Given the description of an element on the screen output the (x, y) to click on. 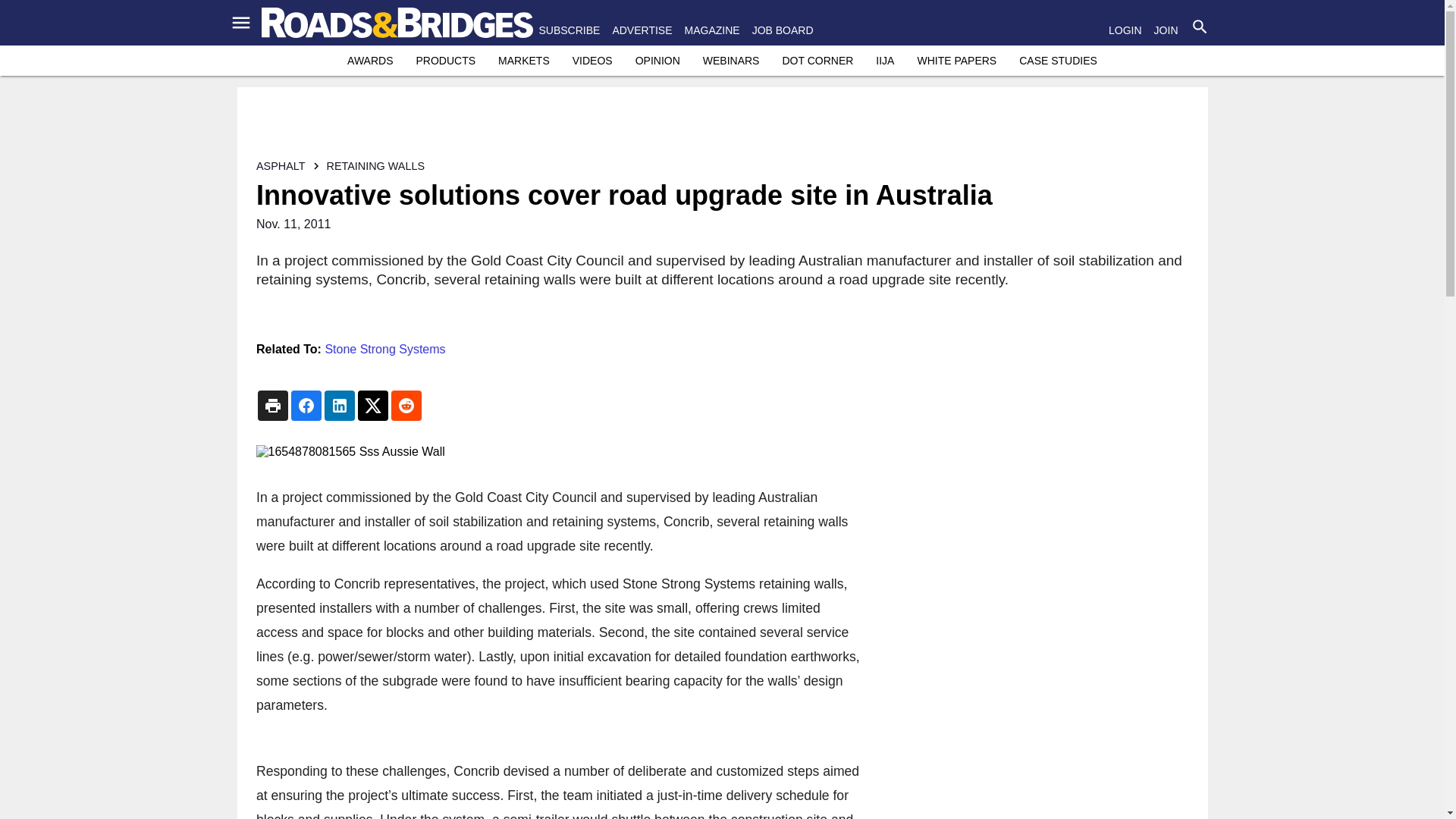
JOIN (1165, 30)
MARKETS (523, 60)
PRODUCTS (445, 60)
OPINION (656, 60)
WEBINARS (731, 60)
JOB BOARD (782, 30)
DOT CORNER (817, 60)
1654878081565 Sss Aussie Wall (560, 451)
IIJA (884, 60)
VIDEOS (592, 60)
